Given the description of an element on the screen output the (x, y) to click on. 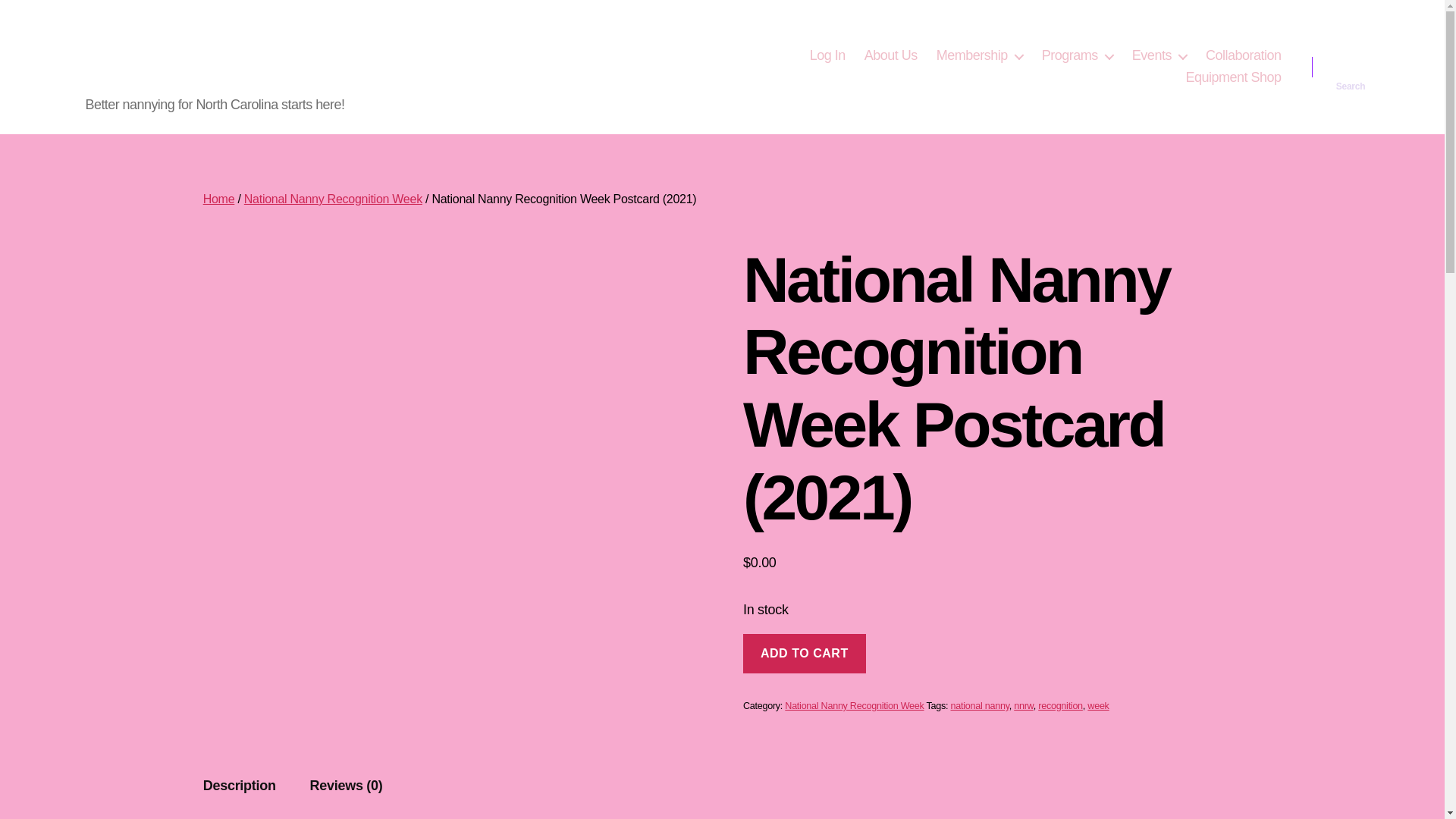
Membership (979, 55)
Search (1350, 66)
Equipment Shop (1233, 77)
About Us (890, 55)
Events (1159, 55)
Programs (1077, 55)
Collaboration (1243, 55)
Log In (827, 55)
